Given the description of an element on the screen output the (x, y) to click on. 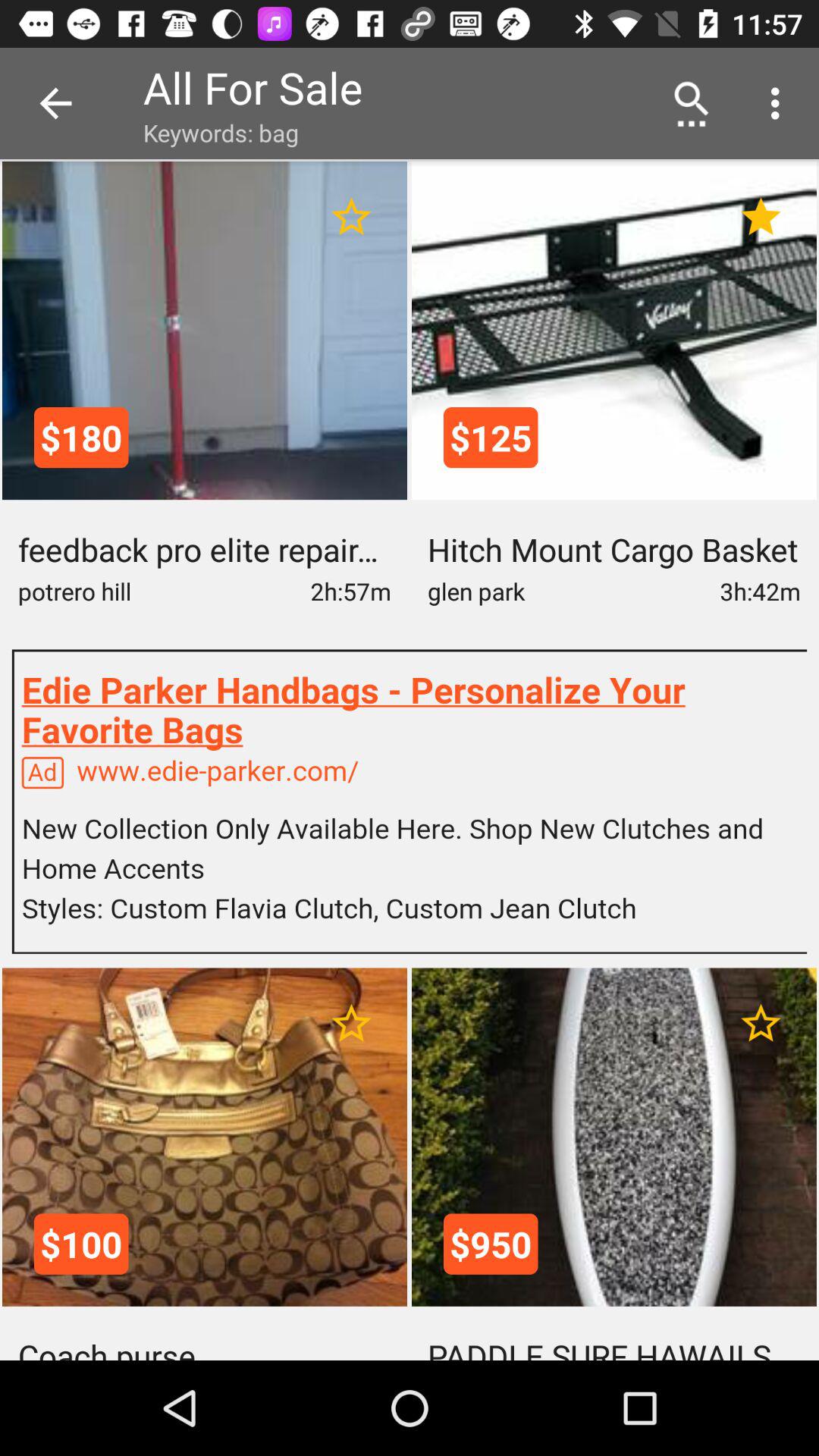
click the star option (760, 217)
